Given the description of an element on the screen output the (x, y) to click on. 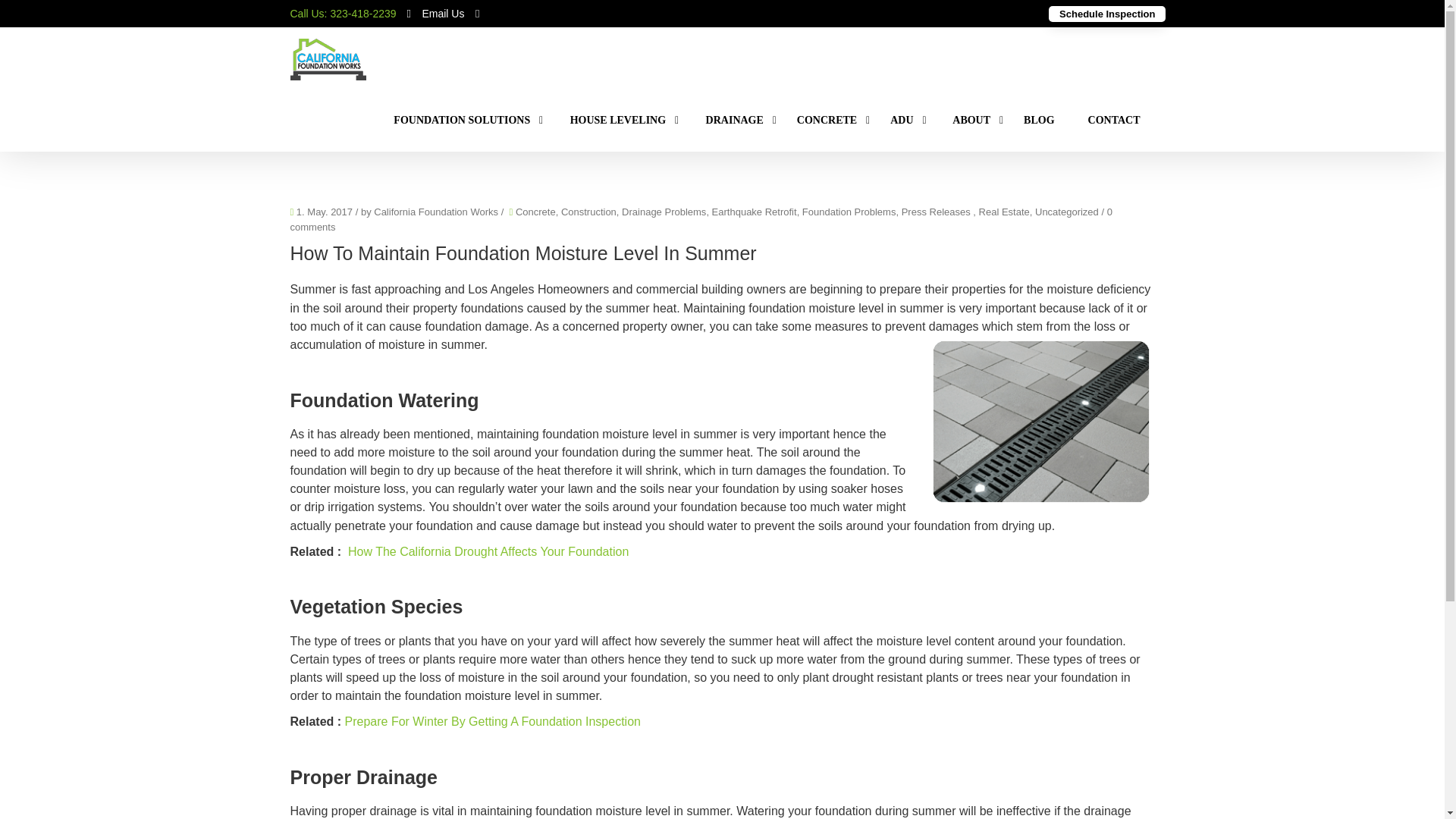
Call Us: 323-418-2239 (342, 13)
Schedule Inspection (1107, 13)
Foundation Solutions (461, 119)
 Email Us  (443, 12)
Schedule an Inspection (1107, 13)
FOUNDATION SOLUTIONS (461, 119)
